Given the description of an element on the screen output the (x, y) to click on. 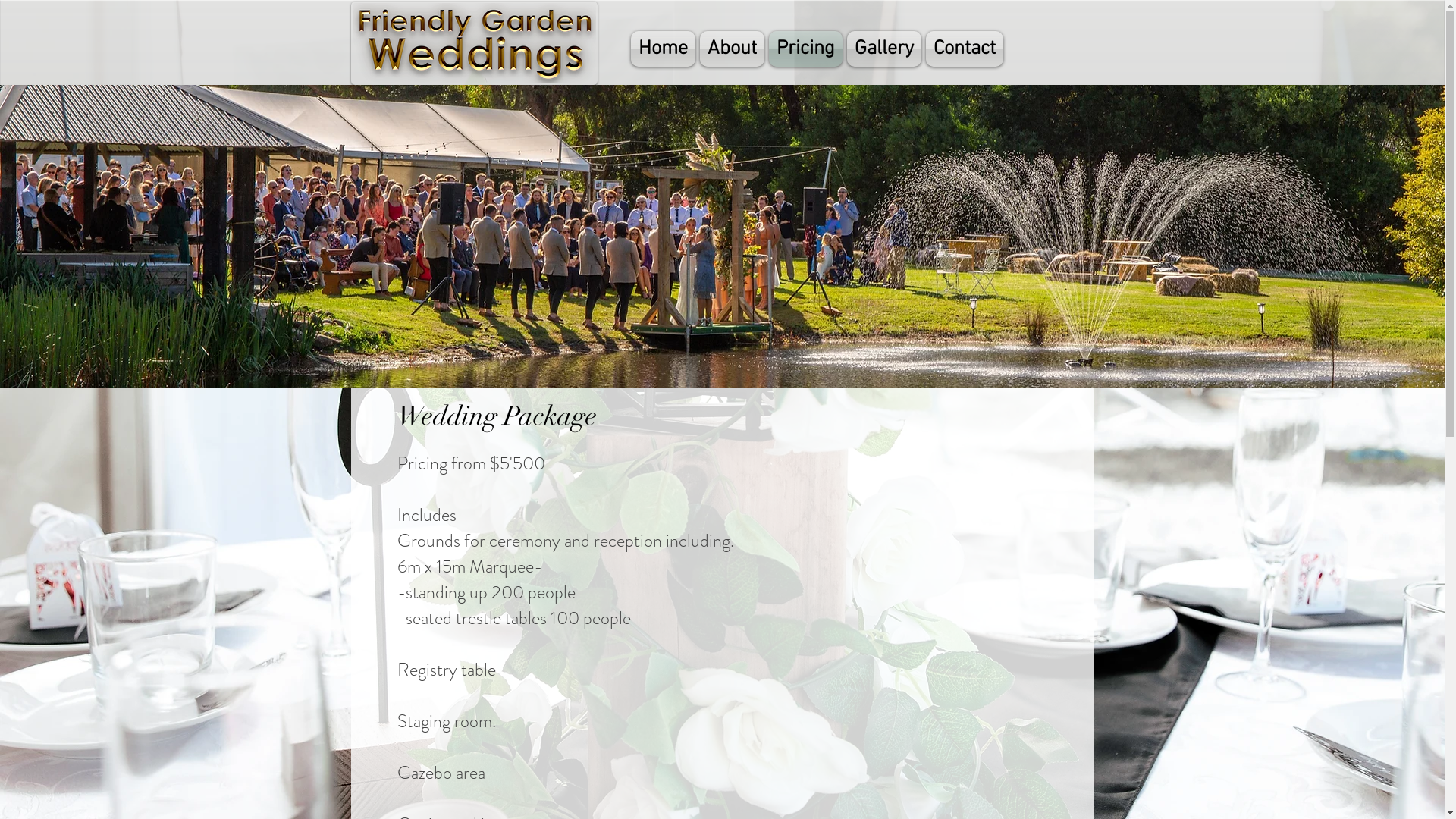
Home Element type: text (663, 48)
About Element type: text (731, 48)
Contact Element type: text (964, 48)
Gallery Element type: text (883, 48)
Pricing Element type: text (804, 48)
